Given the description of an element on the screen output the (x, y) to click on. 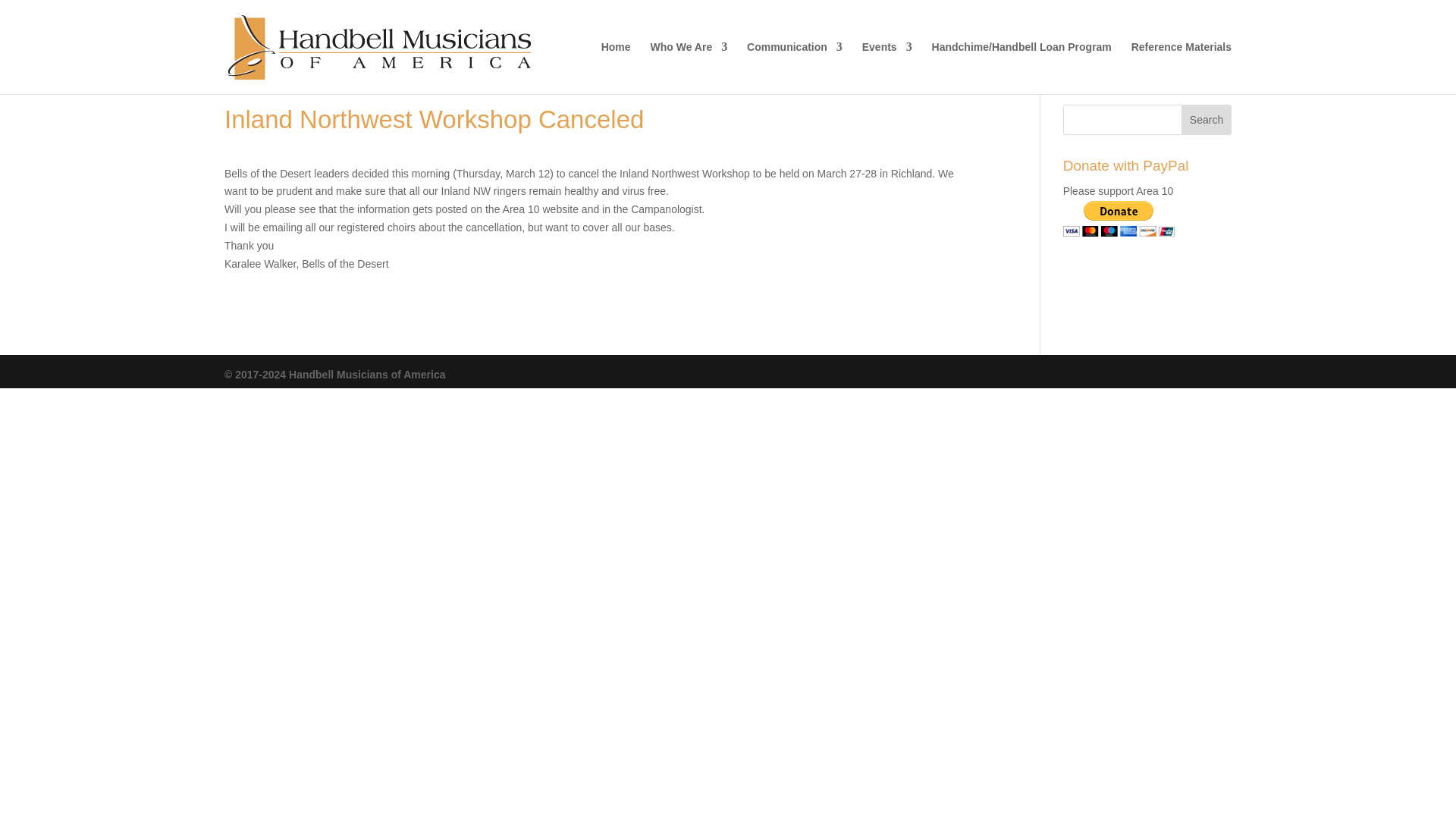
Reference Materials (1181, 67)
Search (1205, 119)
Who We Are (689, 67)
Communication (794, 67)
Search (1205, 119)
Events (886, 67)
